Given the description of an element on the screen output the (x, y) to click on. 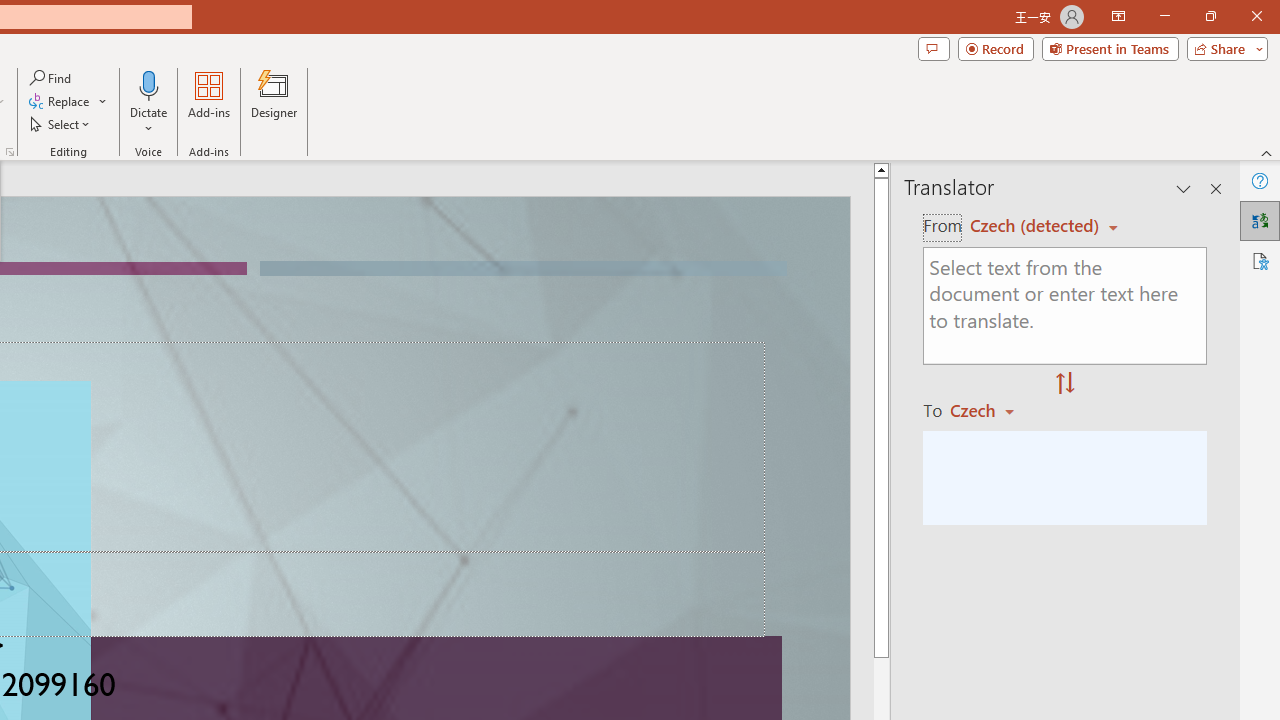
Translator (1260, 220)
Swap "from" and "to" languages. (1065, 383)
Find... (51, 78)
Czech (detected) (1037, 225)
Format Object... (9, 151)
